Given the description of an element on the screen output the (x, y) to click on. 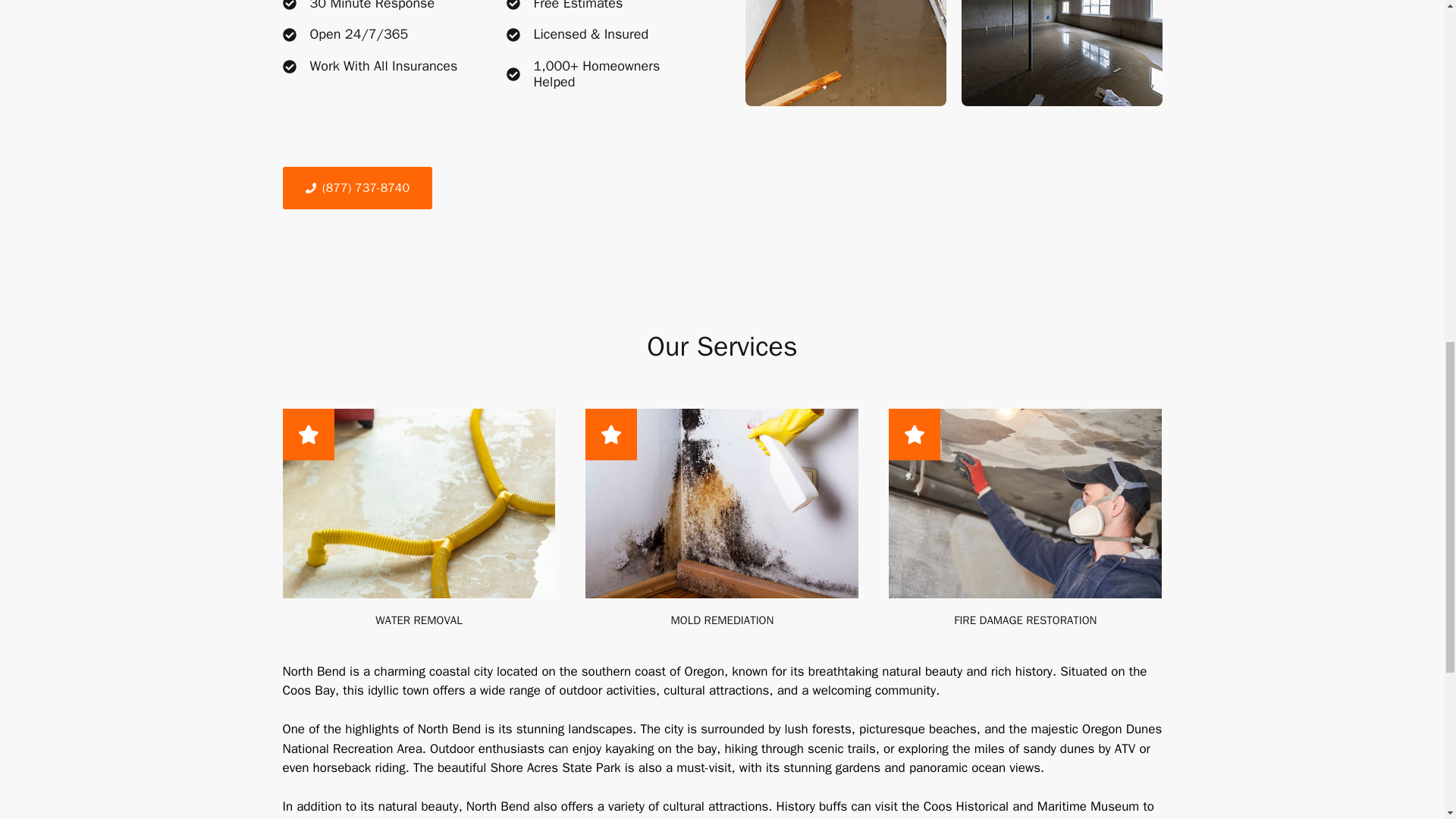
water-in-basement (1060, 53)
